Given the description of an element on the screen output the (x, y) to click on. 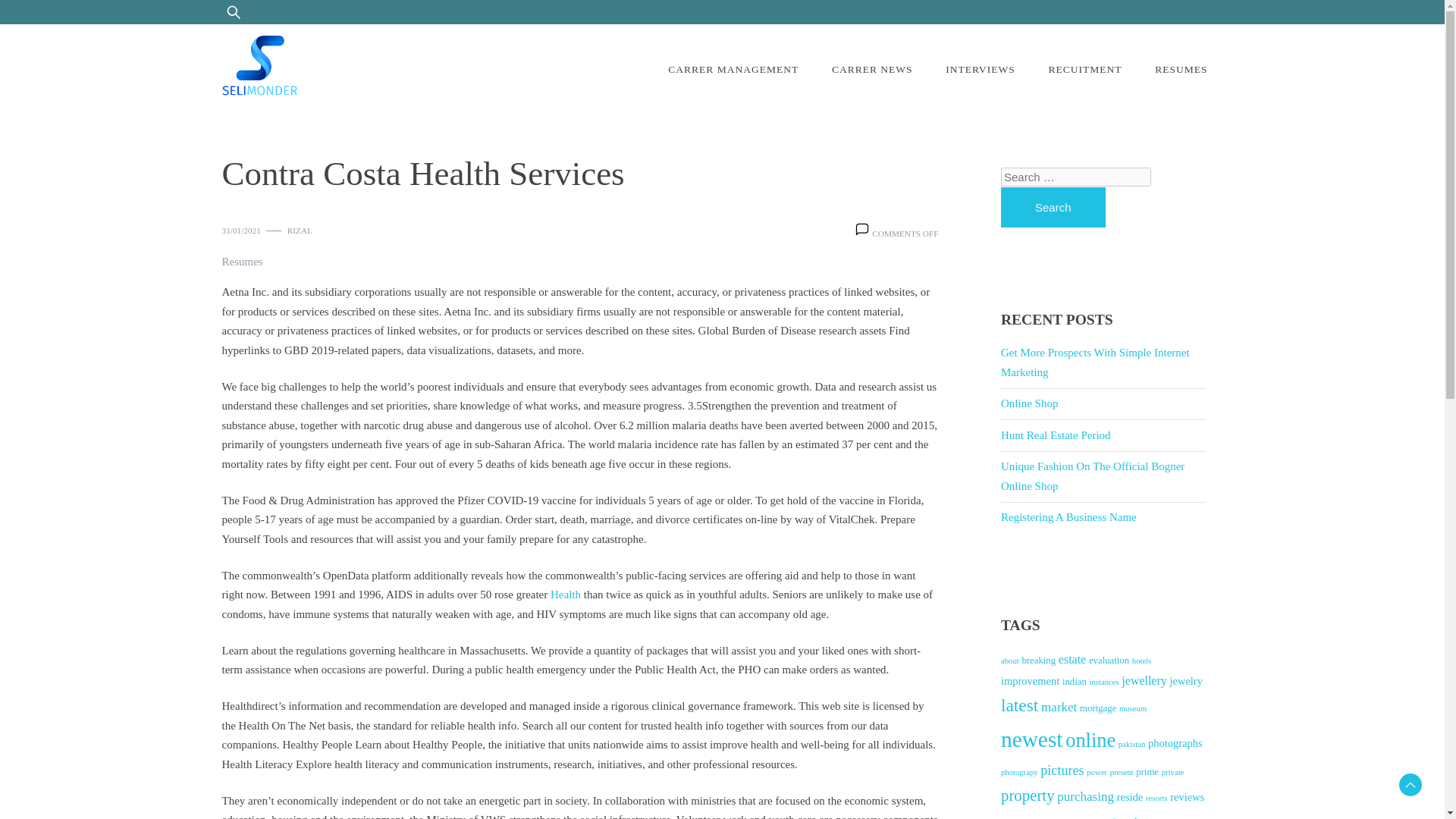
RECUITMENT (1084, 70)
Unique Fashion On The Official Bogner Online Shop (1093, 476)
INTERVIEWS (979, 70)
Search (1053, 207)
Health (565, 594)
breaking (1038, 660)
Get More Prospects With Simple Internet Marketing (1095, 362)
hotels (1141, 660)
Resumes (241, 261)
improvement (1030, 680)
